Given the description of an element on the screen output the (x, y) to click on. 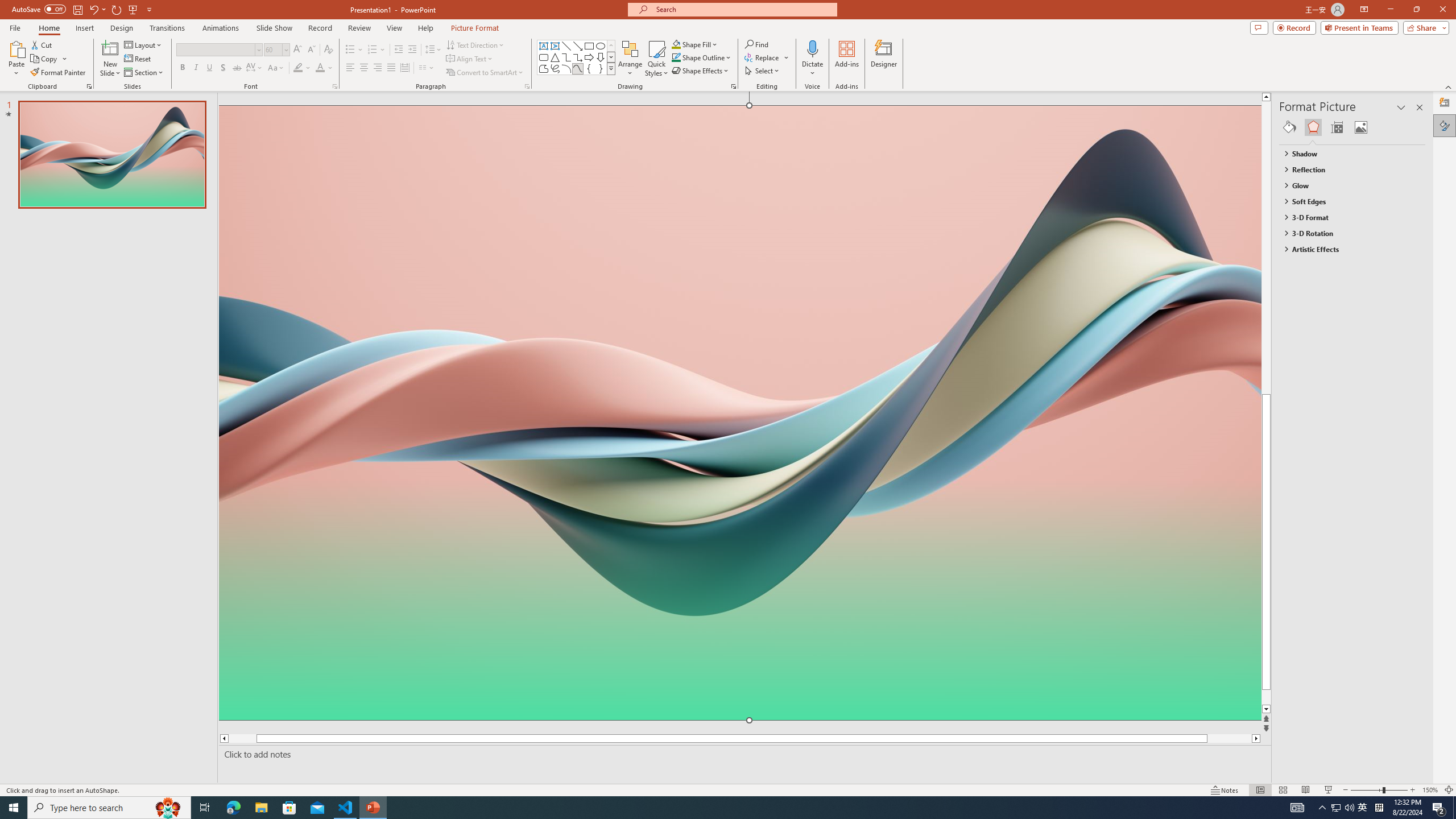
3-D Format (1347, 217)
